Given the description of an element on the screen output the (x, y) to click on. 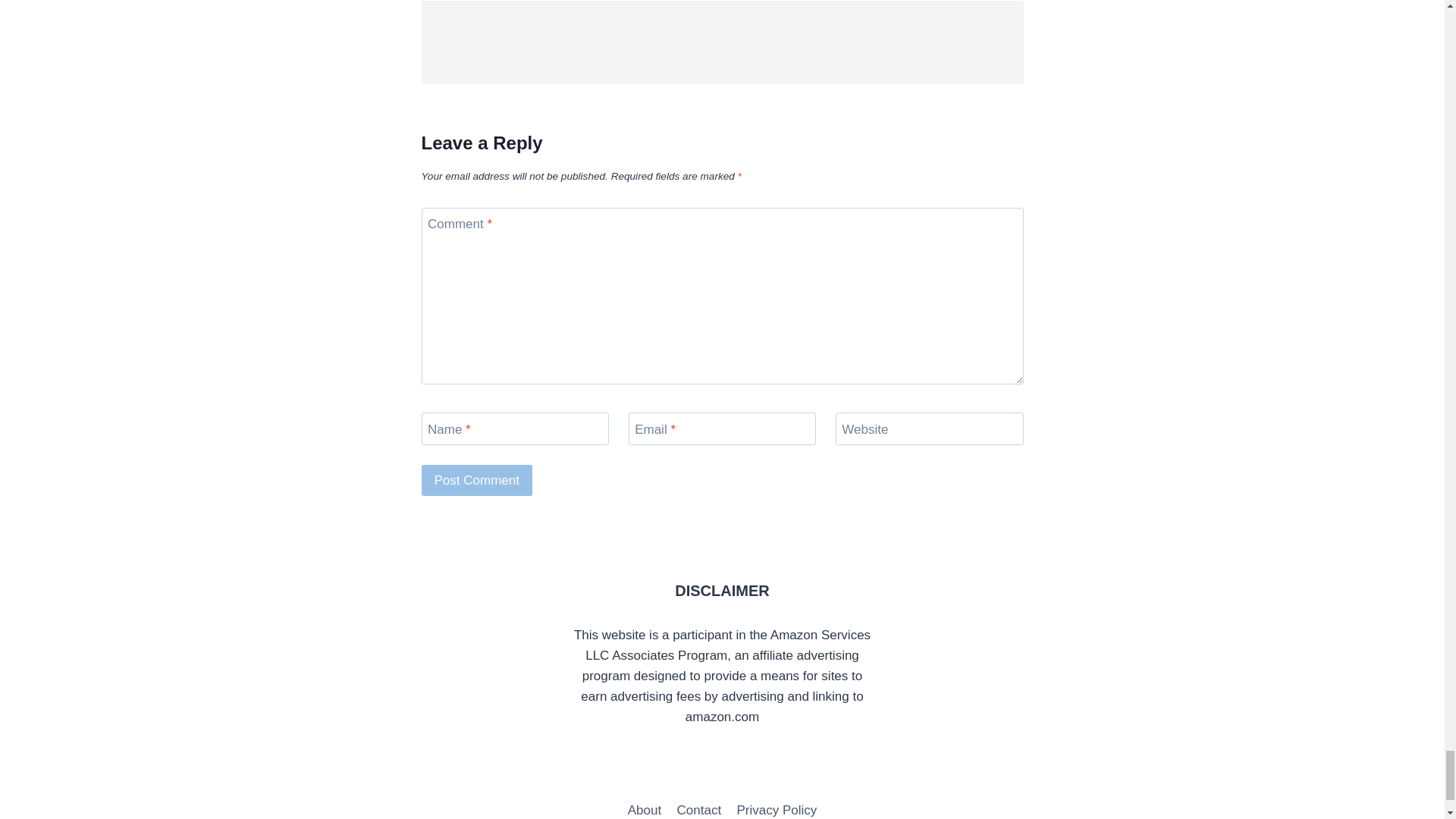
Post Comment (477, 480)
